Given the description of an element on the screen output the (x, y) to click on. 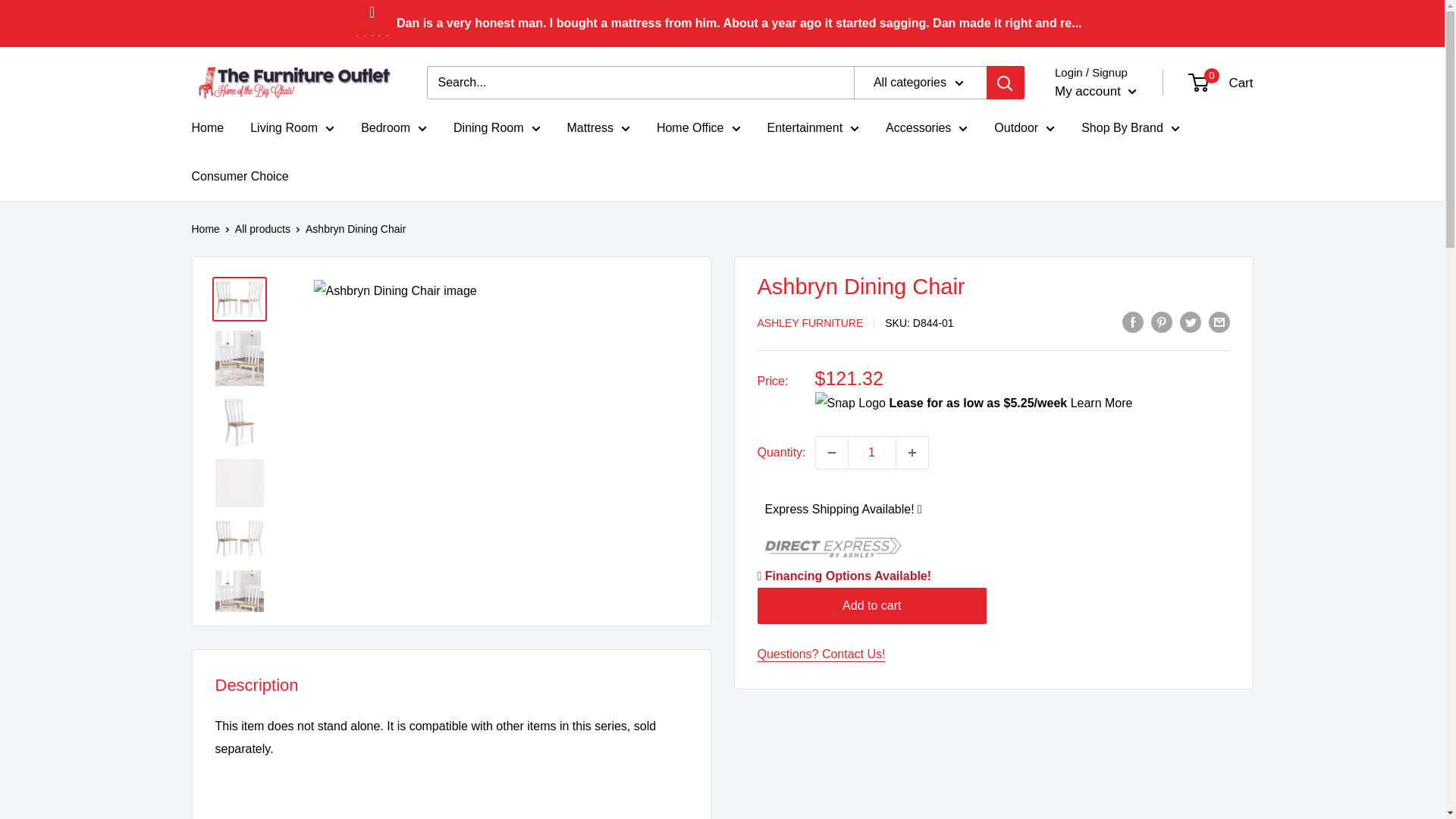
Increase quantity by 1 (912, 452)
1 (871, 452)
Contact Us (821, 653)
Decrease quantity by 1 (831, 452)
